Given the description of an element on the screen output the (x, y) to click on. 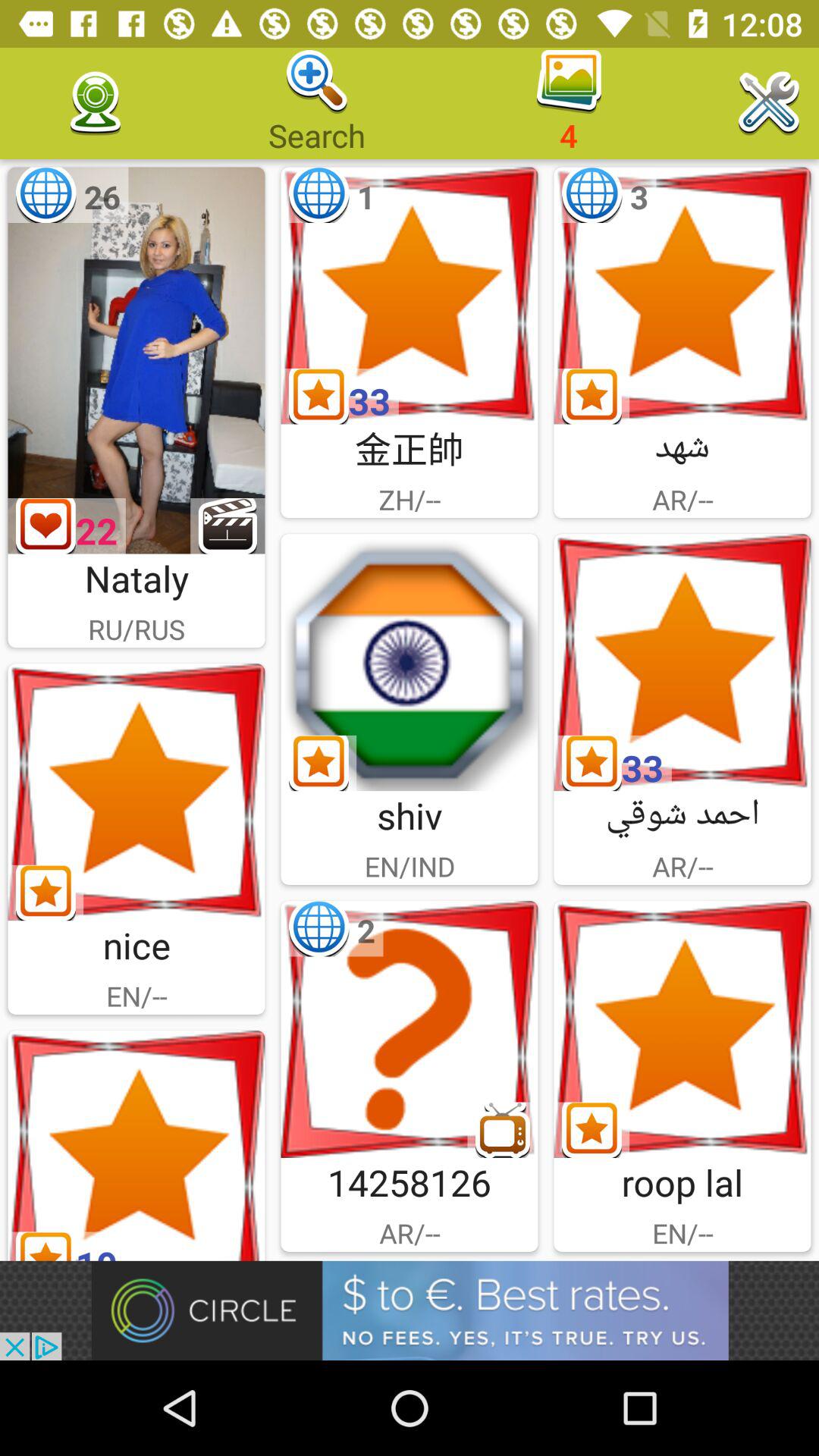
the good product are sale (136, 1145)
